Given the description of an element on the screen output the (x, y) to click on. 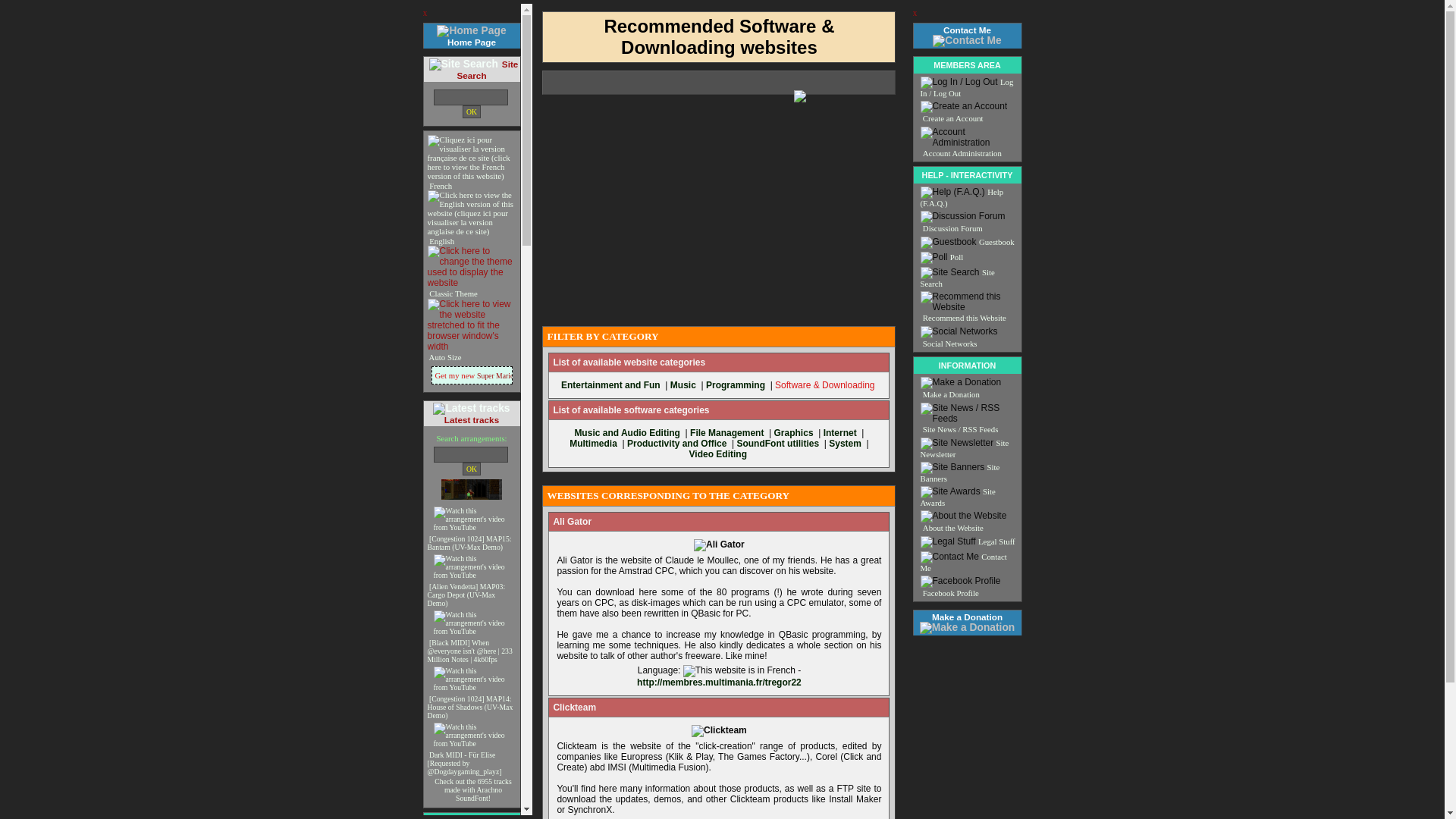
Click here to change the theme used to display the website (472, 266)
OK (471, 111)
Site Search (463, 64)
 French (472, 180)
Site Search (487, 69)
OK (471, 468)
Watch this arrangement's video from YouTube (474, 678)
 Auto Size (444, 356)
